Given the description of an element on the screen output the (x, y) to click on. 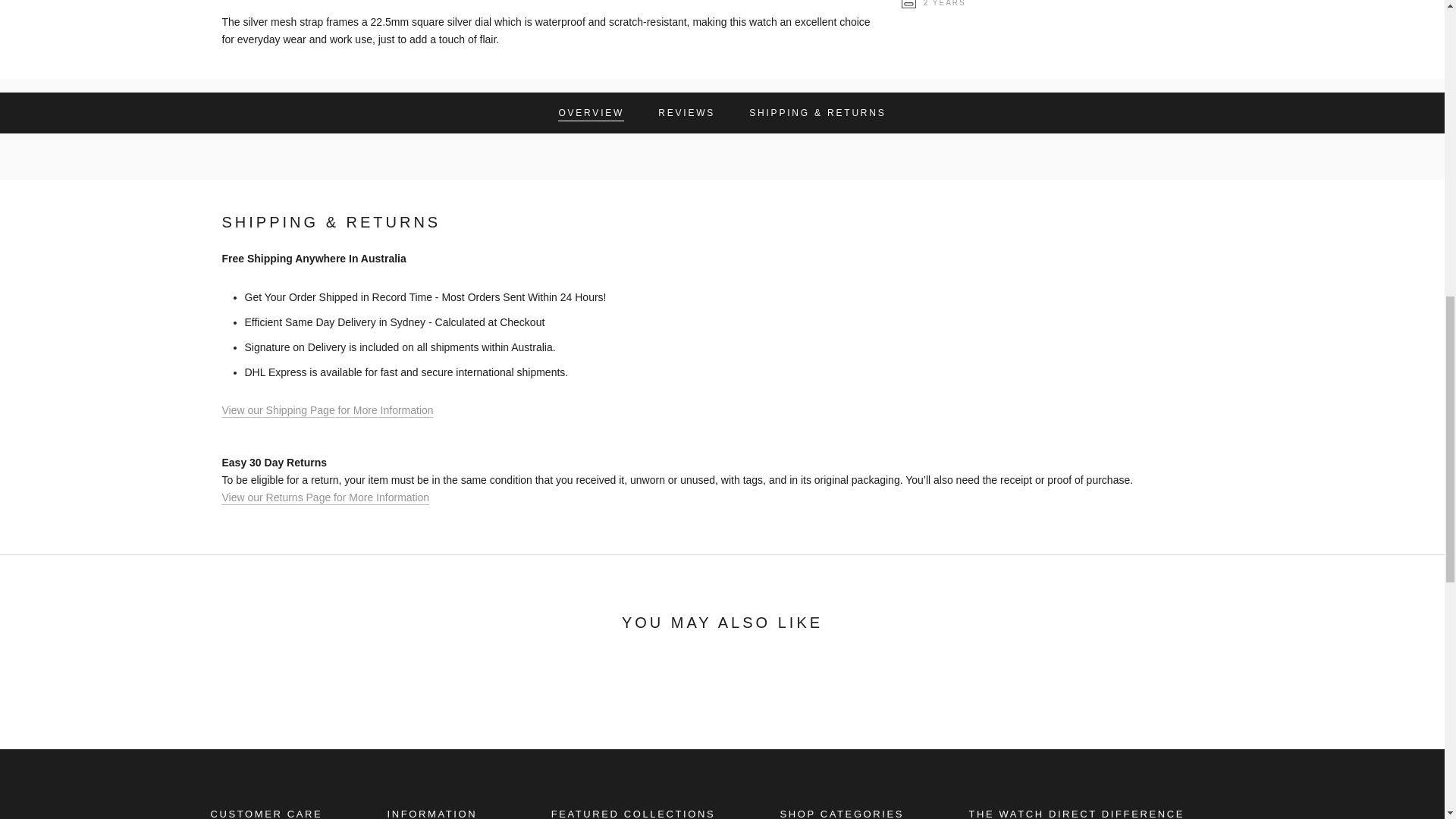
Shipping Page (325, 497)
